Given the description of an element on the screen output the (x, y) to click on. 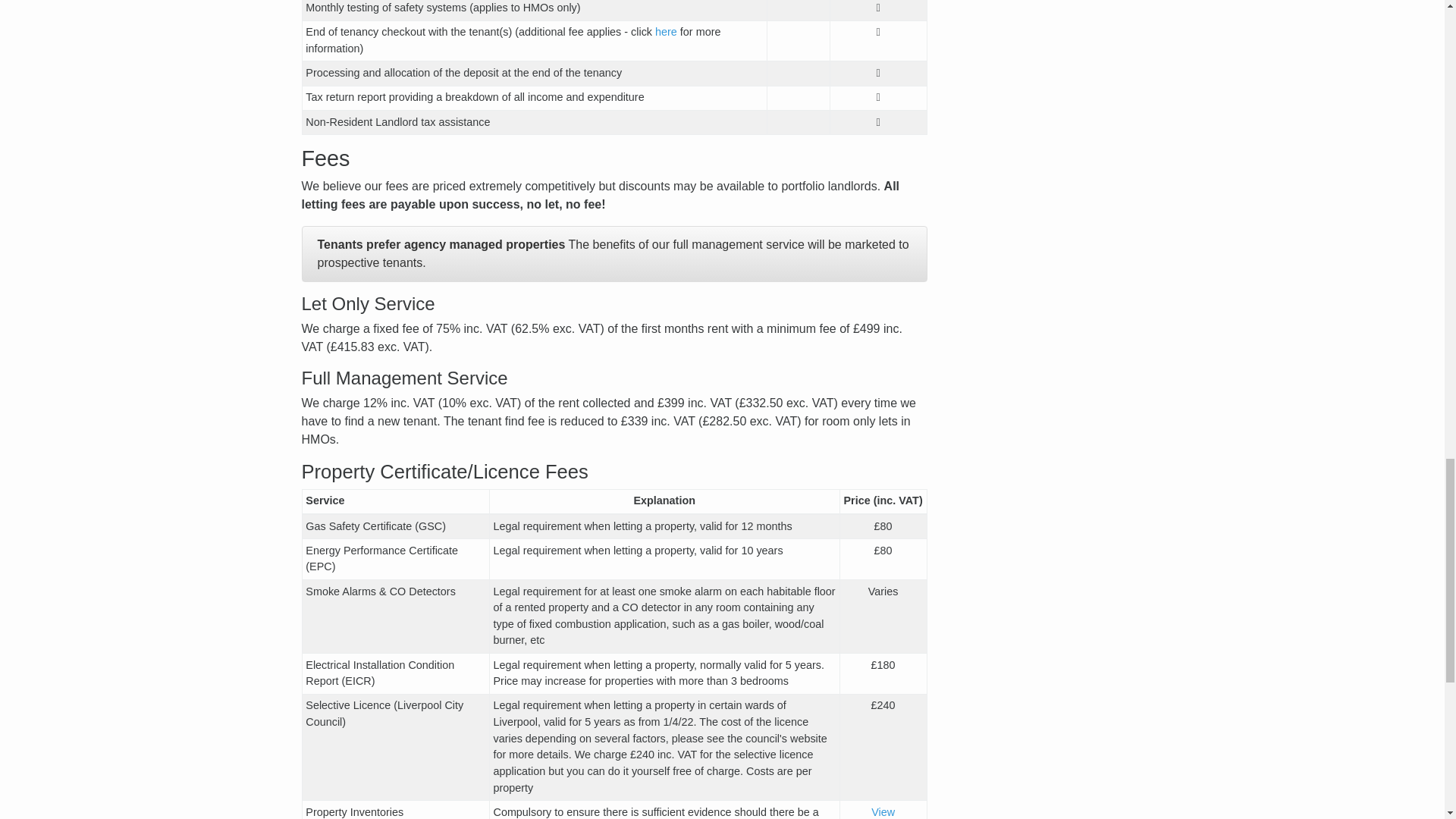
here (666, 31)
View (882, 811)
